Given the description of an element on the screen output the (x, y) to click on. 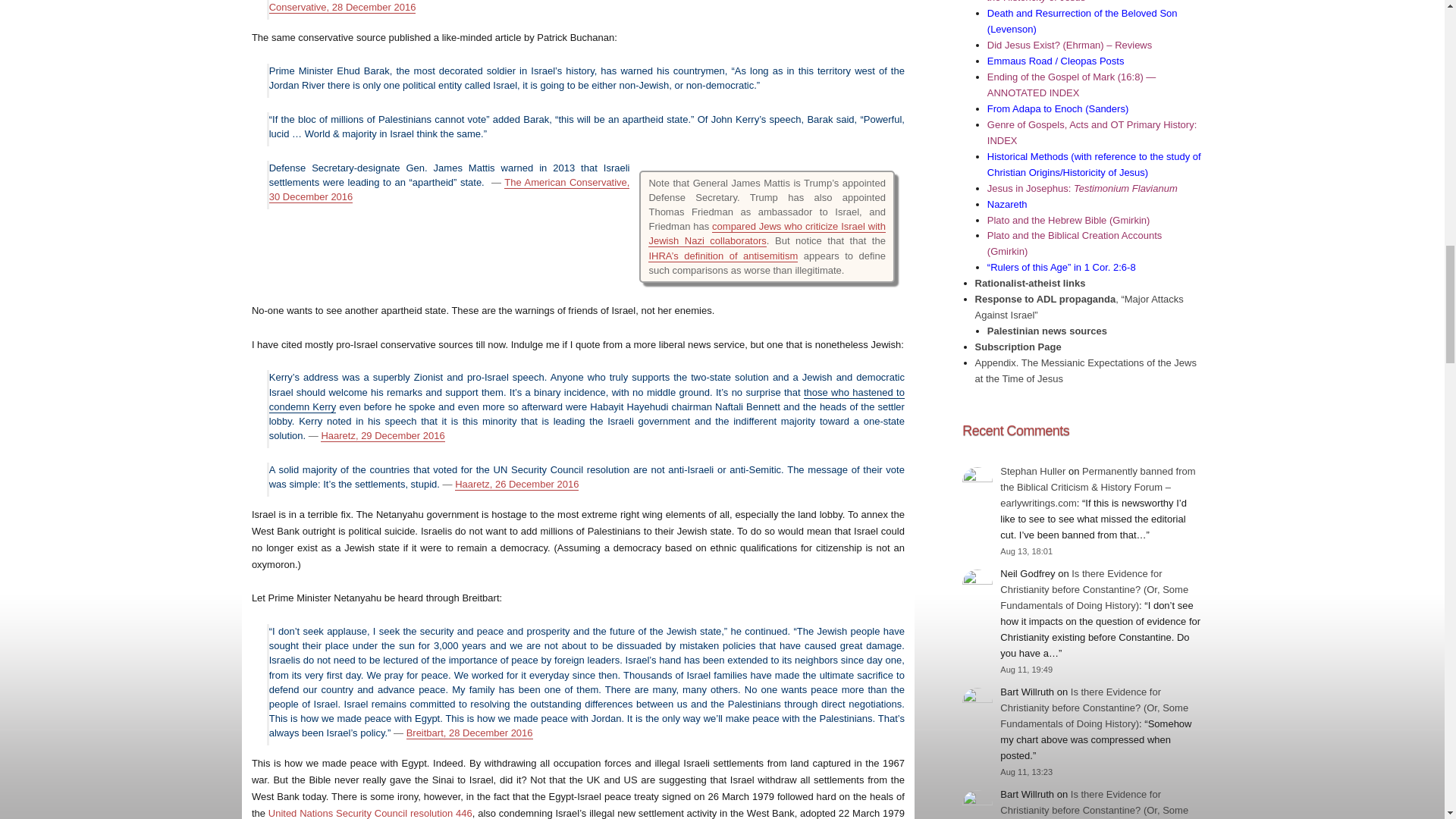
Haaretz, 26 December 2016 (516, 483)
Haaretz, 29 December 2016 (382, 435)
United Nations Security Council resolution 446 (369, 813)
Breitbart, 28 December 2016 (469, 732)
those who hastened to condemn Kerry (586, 399)
The American Conservative, 30 December 2016 (449, 189)
The American Conservative, 28 December 2016 (586, 6)
